Given the description of an element on the screen output the (x, y) to click on. 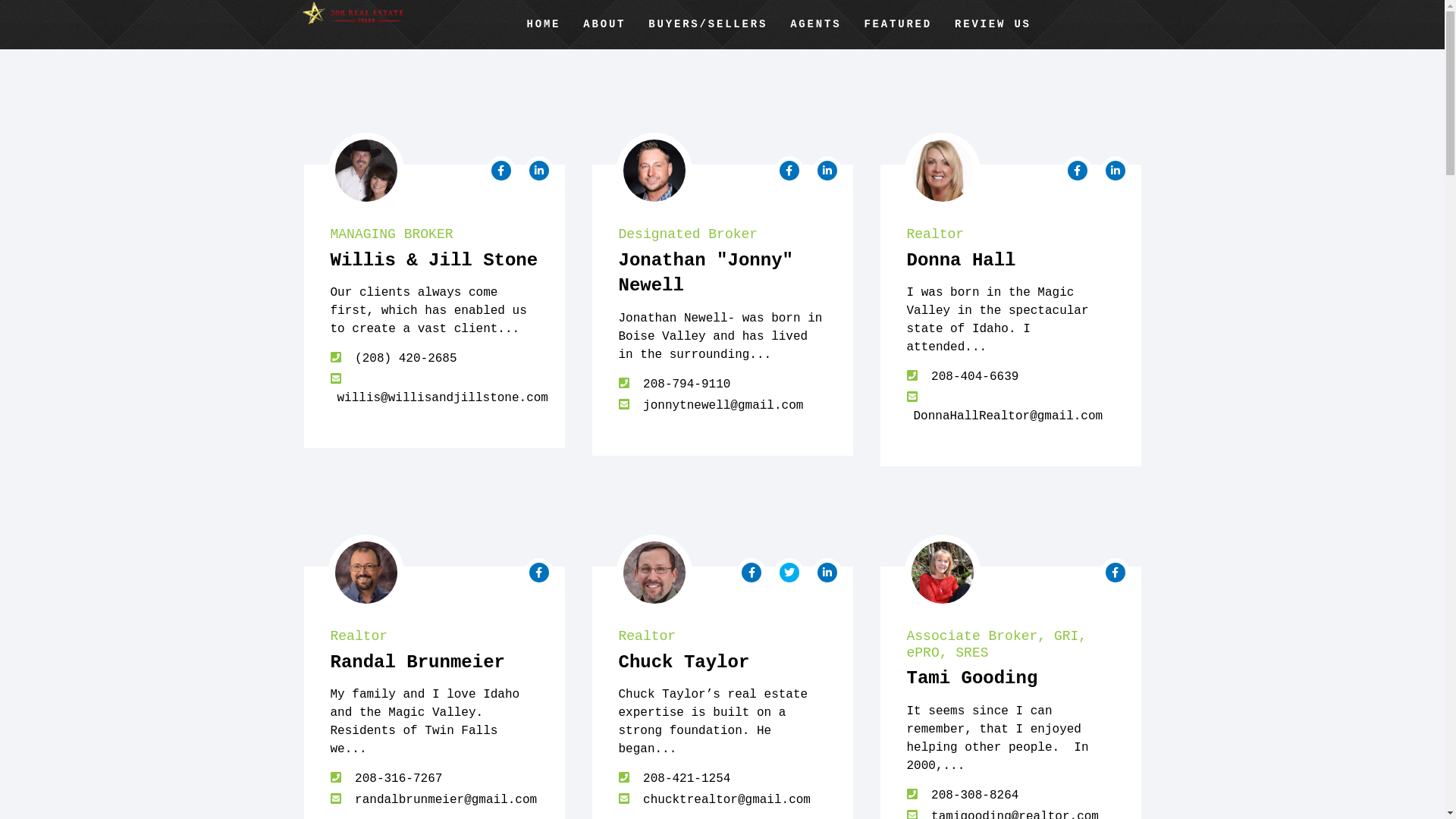
AGENTS Element type: text (815, 24)
Realtor
Donna Hall Element type: text (1010, 248)
DonnaHallRealtor@gmail.com Element type: text (1004, 416)
208-308-8264 Element type: text (971, 795)
208-794-9110 Element type: text (683, 384)
BUYERS/SELLERS Element type: text (707, 24)
208-316-7267 Element type: text (395, 778)
Realtor
Randal Brunmeier Element type: text (434, 650)
Designated Broker
Jonathan "Jonny" Newell Element type: text (722, 260)
FEATURED Element type: text (897, 24)
208-421-1254 Element type: text (683, 778)
208-404-6639 Element type: text (971, 376)
HOME Element type: text (543, 24)
chucktrealtor@gmail.com Element type: text (723, 799)
willis@willisandjillstone.com Element type: text (439, 397)
MANAGING BROKER
Willis & Jill Stone Element type: text (434, 248)
jonnytnewell@gmail.com Element type: text (719, 405)
Associate Broker, GRI, ePRO, SRES
Tami Gooding Element type: text (1010, 658)
randalbrunmeier@gmail.com Element type: text (442, 799)
ABOUT Element type: text (604, 24)
REVIEW US Element type: text (992, 24)
(208) 420-2685 Element type: text (402, 358)
Realtor
Chuck Taylor Element type: text (722, 650)
